Given the description of an element on the screen output the (x, y) to click on. 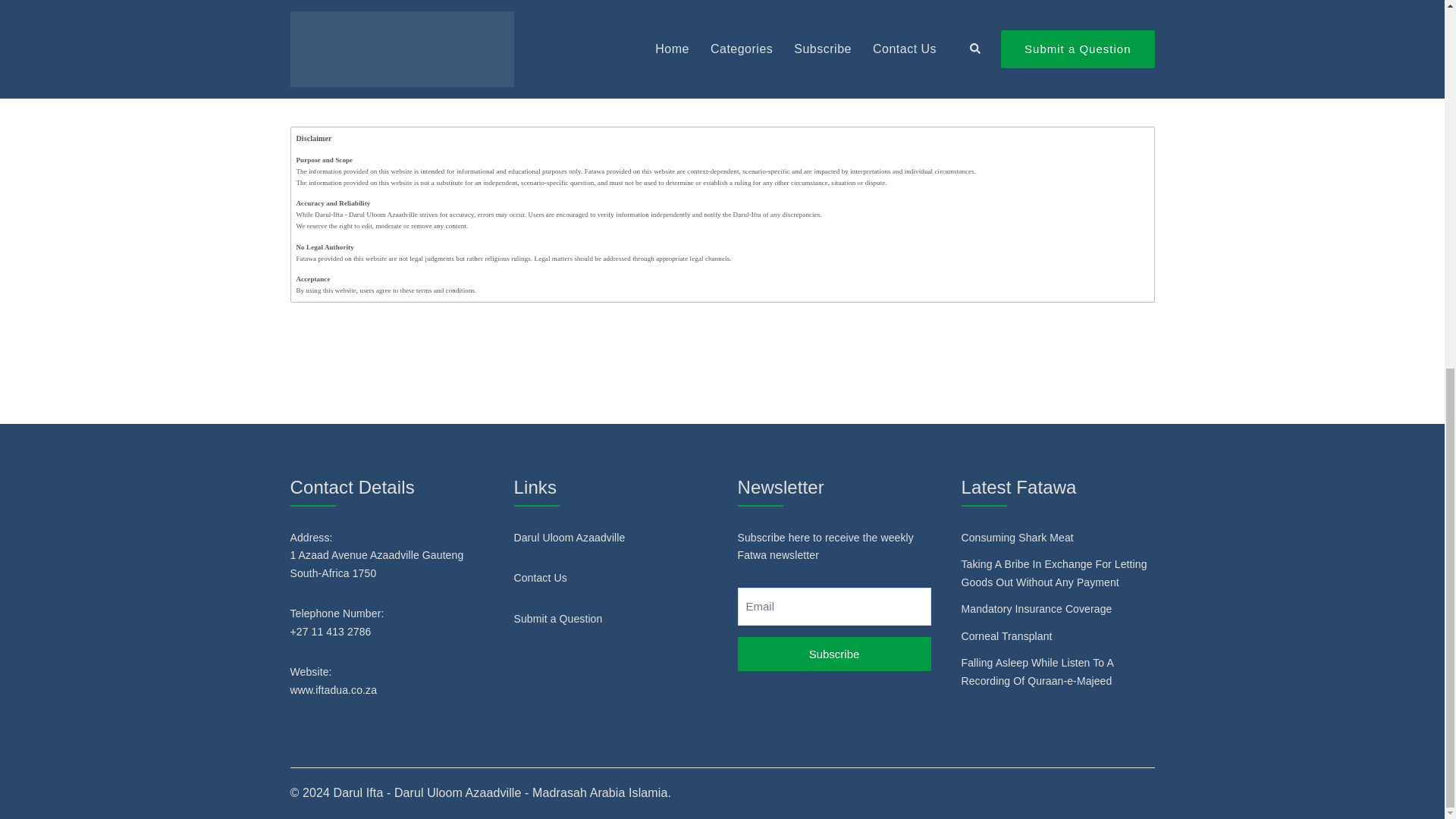
Subscribe (833, 653)
Consuming Shark Meat (1017, 537)
Subscribe (833, 653)
Telegram (1008, 90)
Submit a Question (557, 618)
Mandatory Insurance Coverage (1036, 608)
Contact Us (540, 577)
Email this  (1093, 90)
More share links (1136, 90)
